Given the description of an element on the screen output the (x, y) to click on. 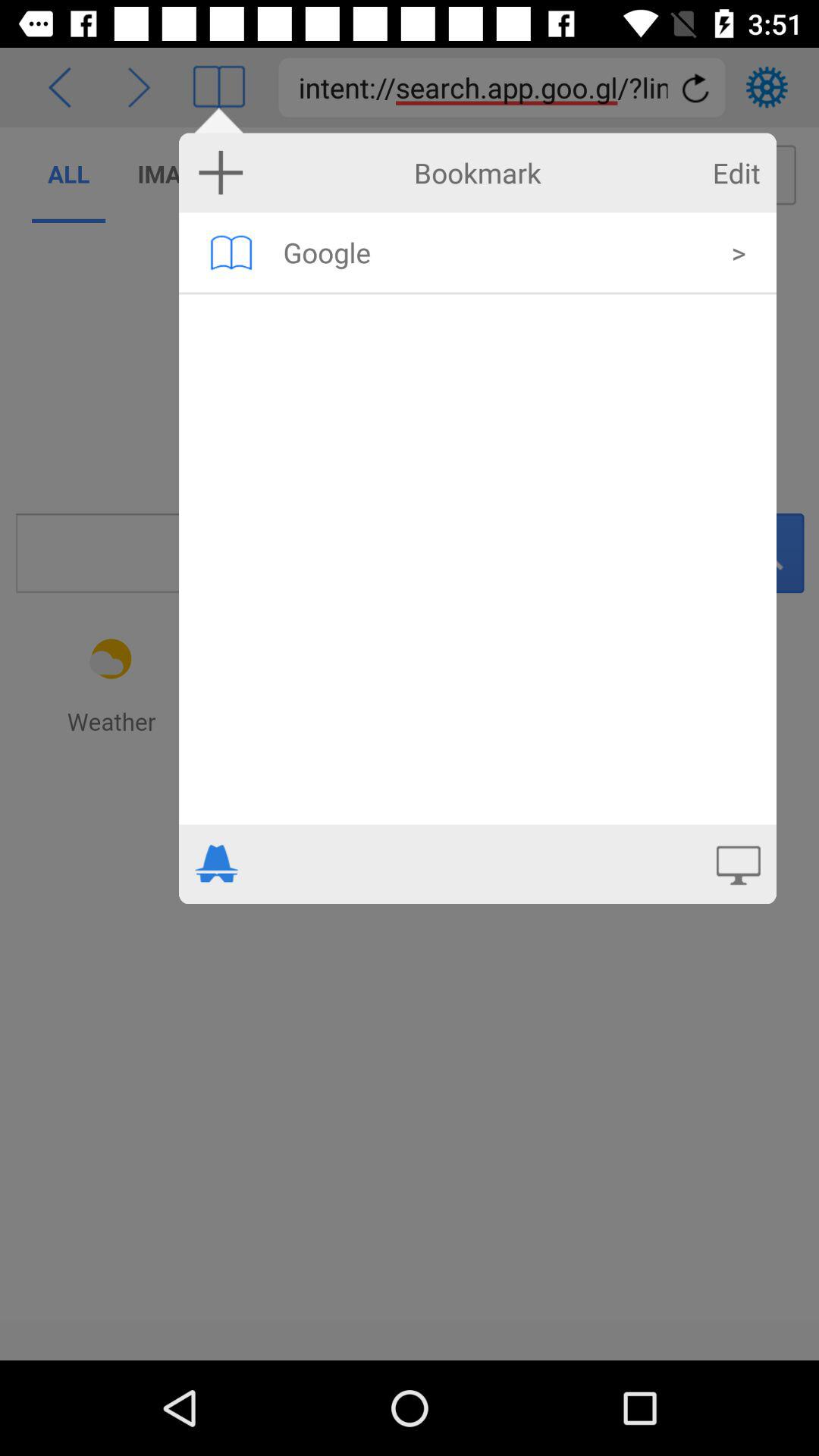
tap item next to the > icon (497, 252)
